Given the description of an element on the screen output the (x, y) to click on. 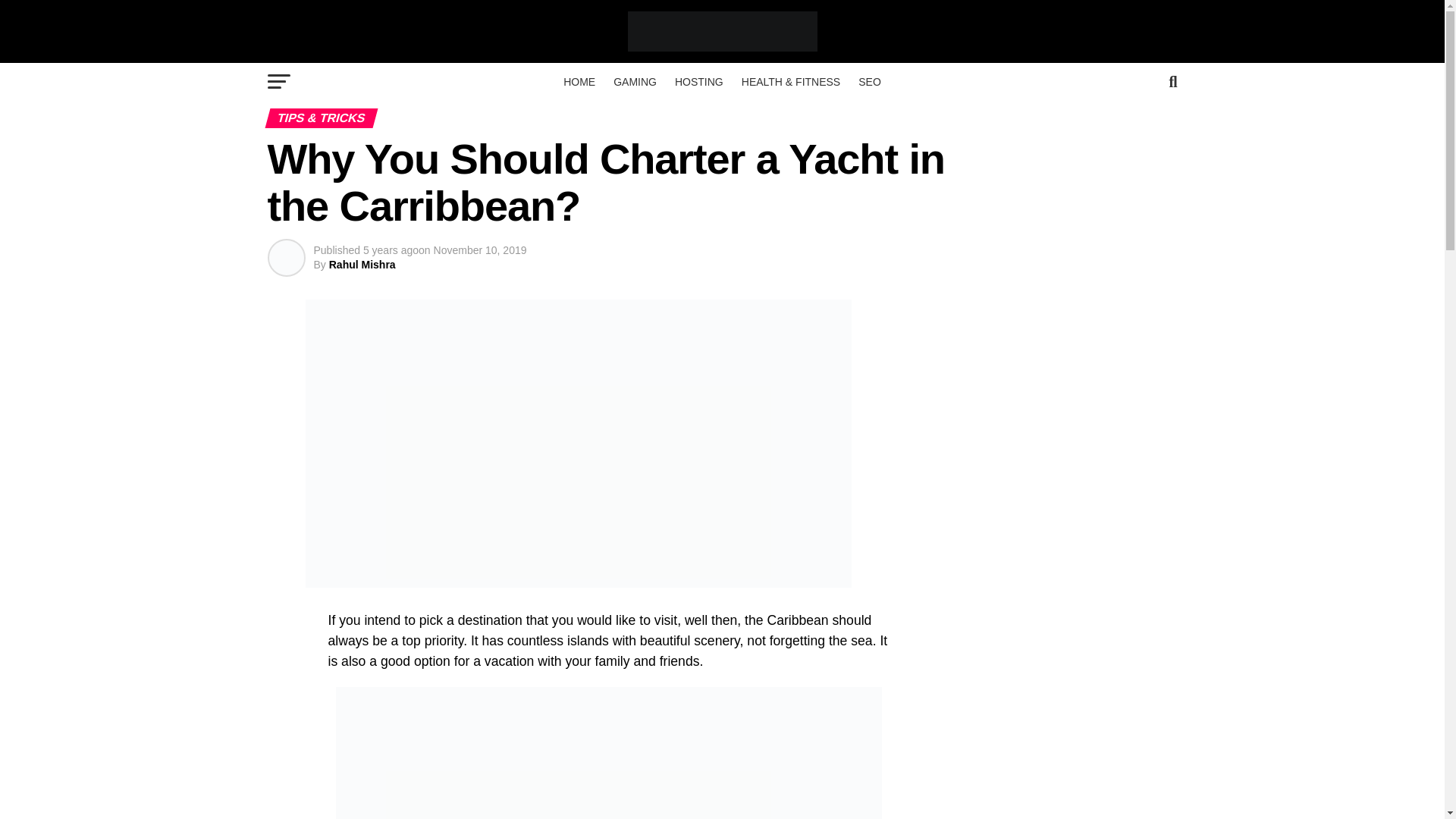
SEO (868, 81)
HOME (579, 81)
GAMING (634, 81)
HOSTING (698, 81)
Posts by Rahul Mishra (362, 264)
Rahul Mishra (362, 264)
